Given the description of an element on the screen output the (x, y) to click on. 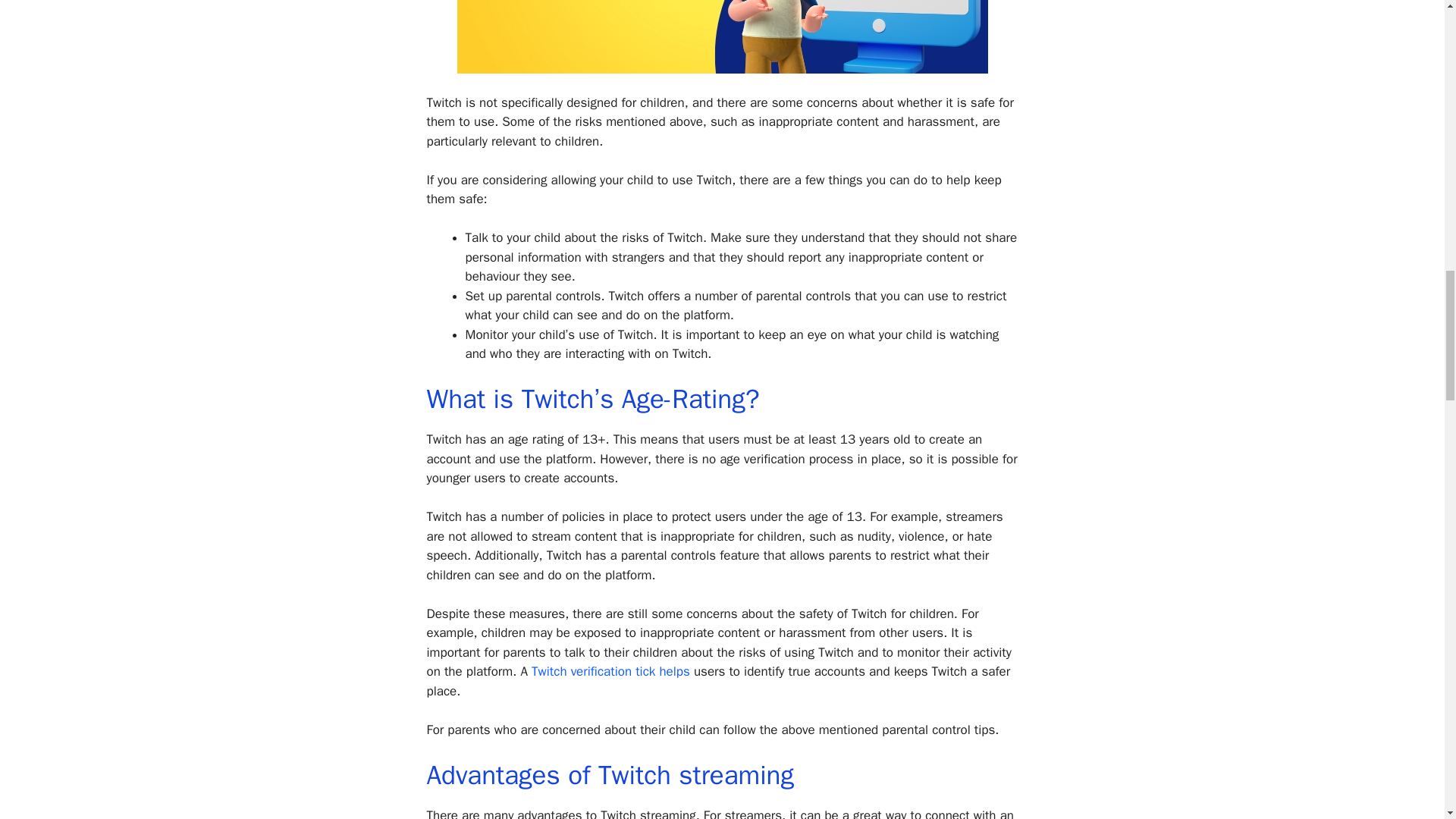
Twitch verification tick helps (610, 671)
